Given the description of an element on the screen output the (x, y) to click on. 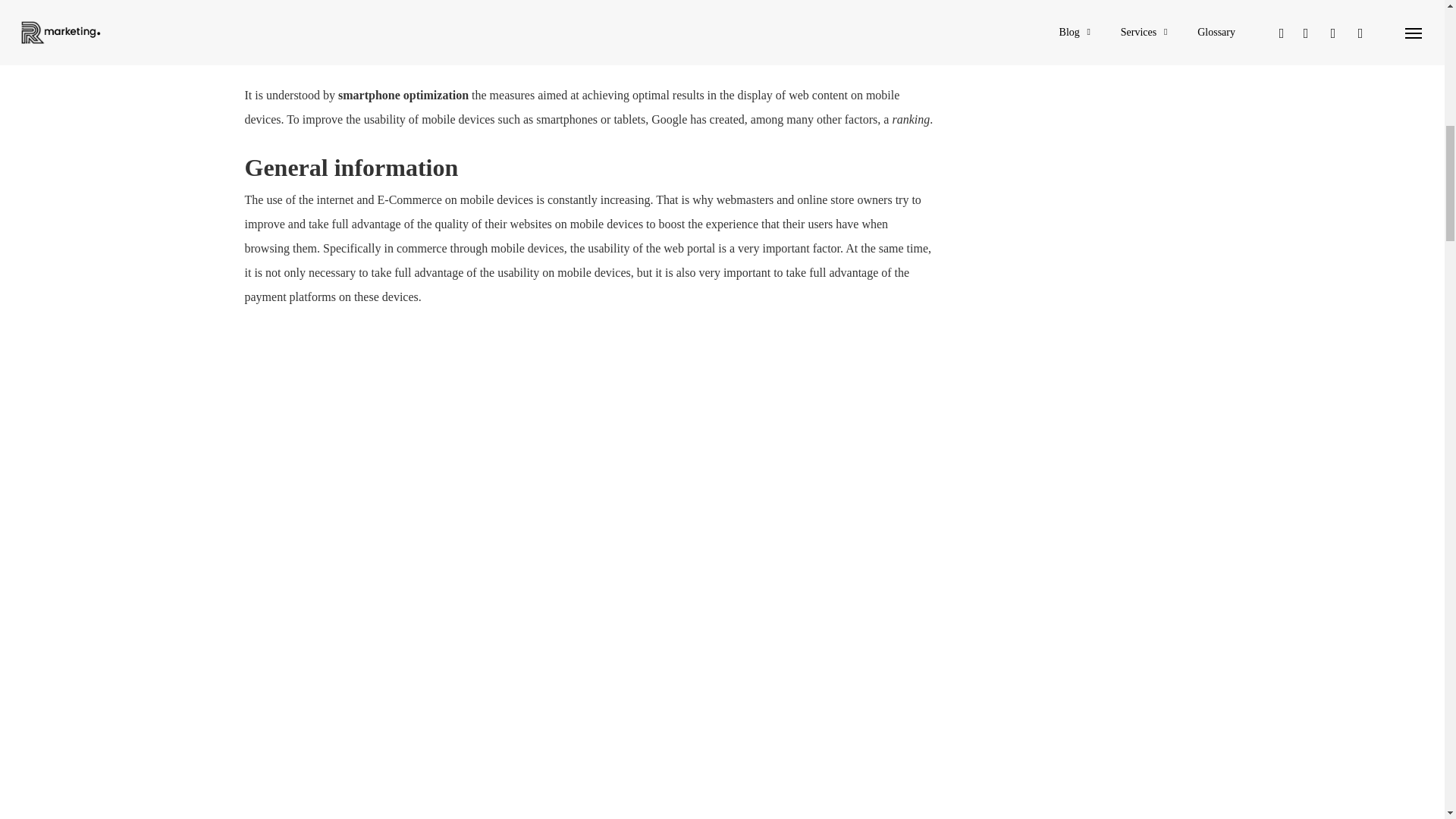
User Experience Design (328, 2)
Optimize (290, 47)
Conversion Optimization (331, 23)
